Given the description of an element on the screen output the (x, y) to click on. 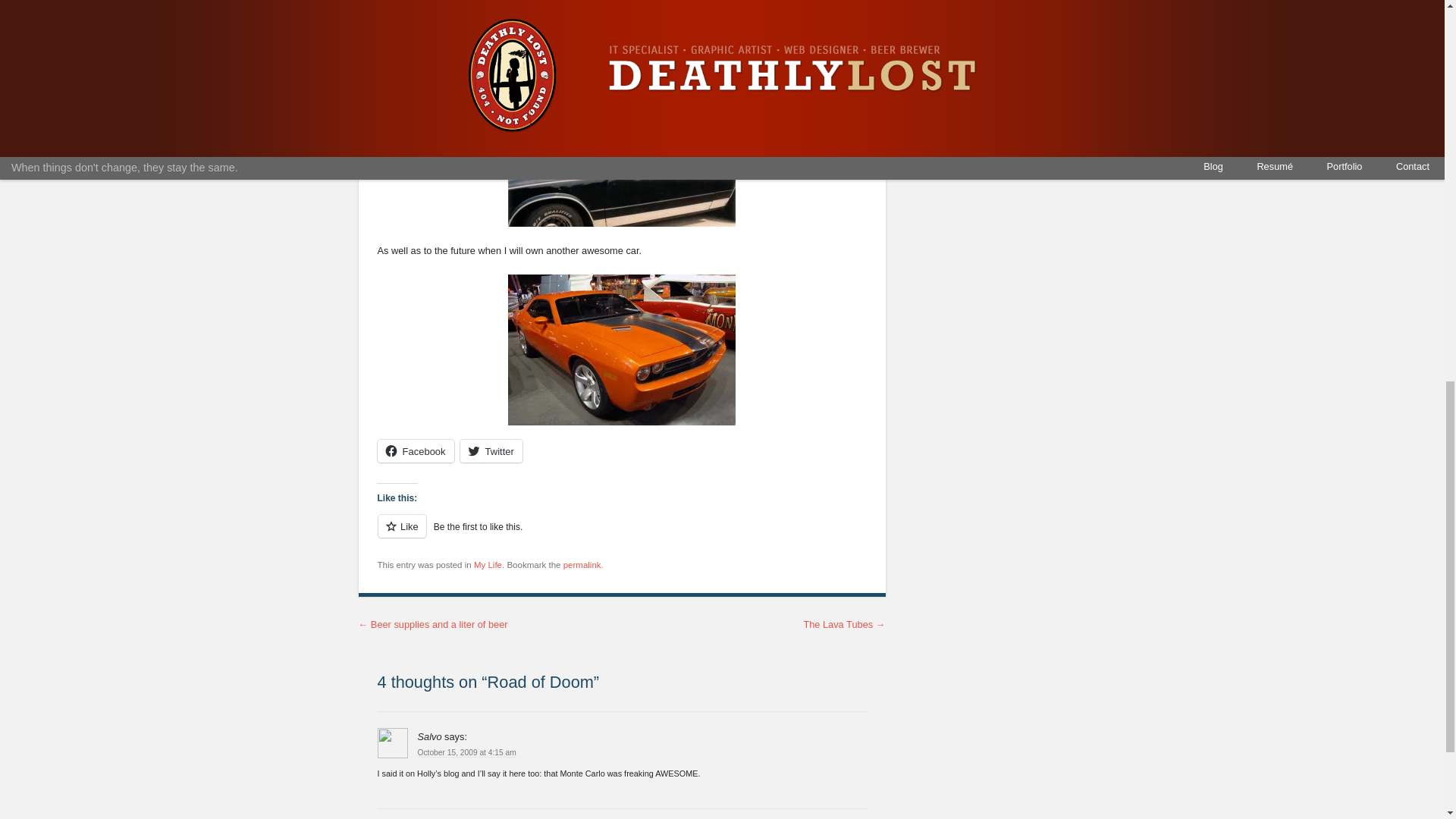
October 15, 2009 at 4:15 am (465, 752)
Facebook (415, 450)
Permalink to Road of Doom (582, 564)
Click to share on Twitter (491, 450)
permalink (582, 564)
My Life (488, 564)
dodge-challenger-barret-jackson-angle (621, 349)
Click to share on Facebook (415, 450)
Twitter (491, 450)
GuitarDriving (621, 150)
Like or Reblog (621, 535)
